Given the description of an element on the screen output the (x, y) to click on. 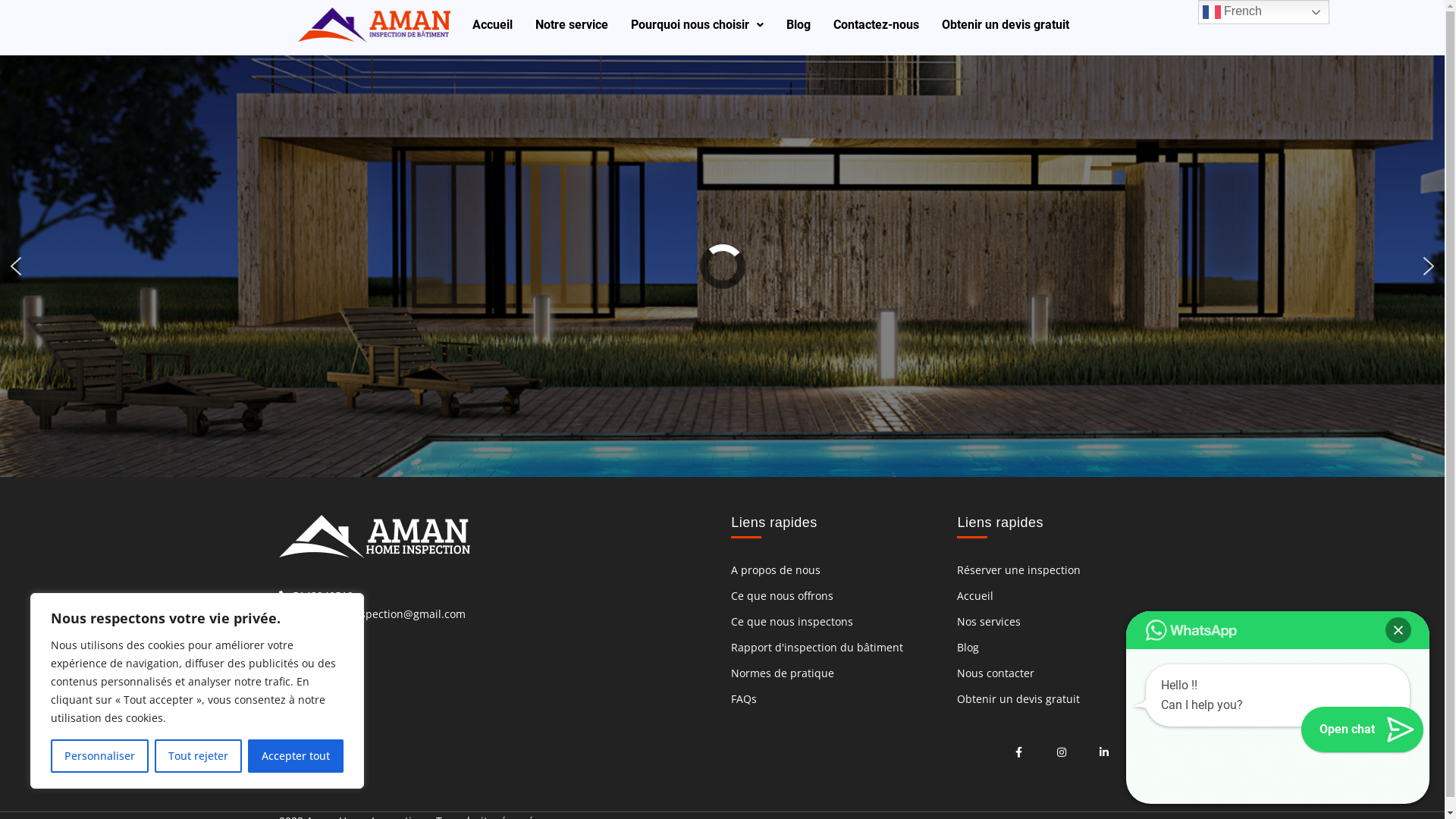
Pourquoi nous choisir Element type: text (697, 24)
amanhomeinspection@gmail.com Element type: text (372, 613)
A propos de nous Element type: text (835, 570)
Accueil Element type: text (492, 24)
Personnaliser Element type: text (99, 755)
Instagram Element type: hover (1061, 751)
Planifier l'inspection Element type: text (721, 344)
Pinterest Element type: hover (1103, 751)
Blog Element type: text (798, 24)
Contactez-nous Element type: text (876, 24)
Facebook Element type: hover (1018, 751)
Nos services Element type: text (1061, 621)
Tout rejeter Element type: text (197, 755)
FAQs Element type: text (835, 699)
5142940519 Element type: text (316, 595)
Nous contacter Element type: text (1061, 673)
Blog Element type: text (1061, 647)
Notre service Element type: text (571, 24)
Obtenir un devis gratuit Element type: text (1005, 24)
Normes de pratique Element type: text (835, 673)
Ce que nous inspectons Element type: text (835, 621)
Close Element type: hover (1398, 630)
Whatsapp Element type: text (310, 631)
Ce que nous offrons Element type: text (835, 595)
Obtenir un devis gratuit Element type: text (1061, 699)
French Element type: text (1263, 12)
Accueil Element type: text (1061, 595)
Accepter tout Element type: text (295, 755)
